Given the description of an element on the screen output the (x, y) to click on. 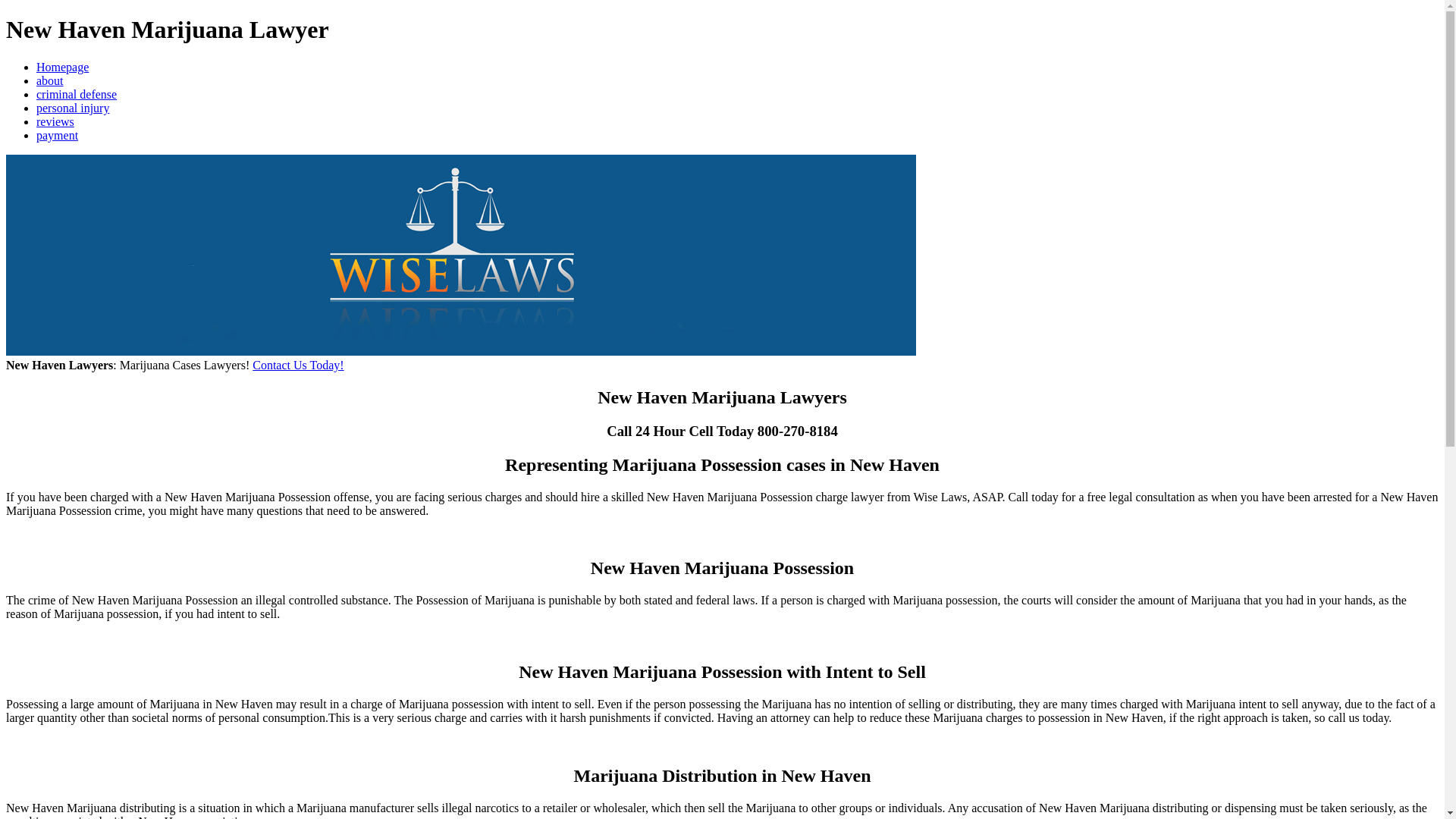
Contact Us Today! (297, 364)
criminal defense (76, 93)
Homepage (62, 66)
reviews (55, 121)
about (50, 80)
personal injury (72, 107)
payment (57, 134)
